Given the description of an element on the screen output the (x, y) to click on. 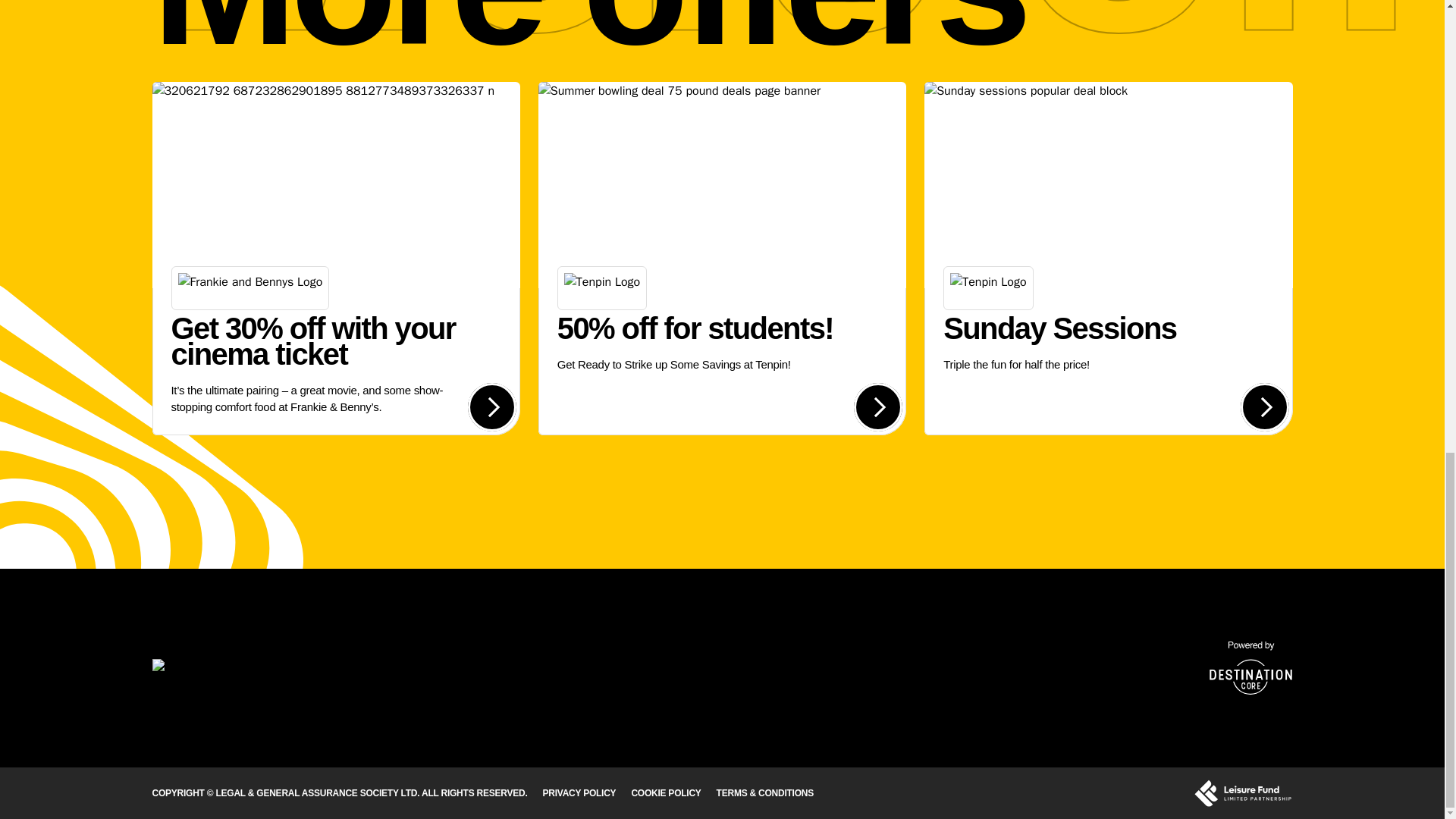
PRIVACY POLICY (578, 792)
COOKIE POLICY (1108, 257)
